Given the description of an element on the screen output the (x, y) to click on. 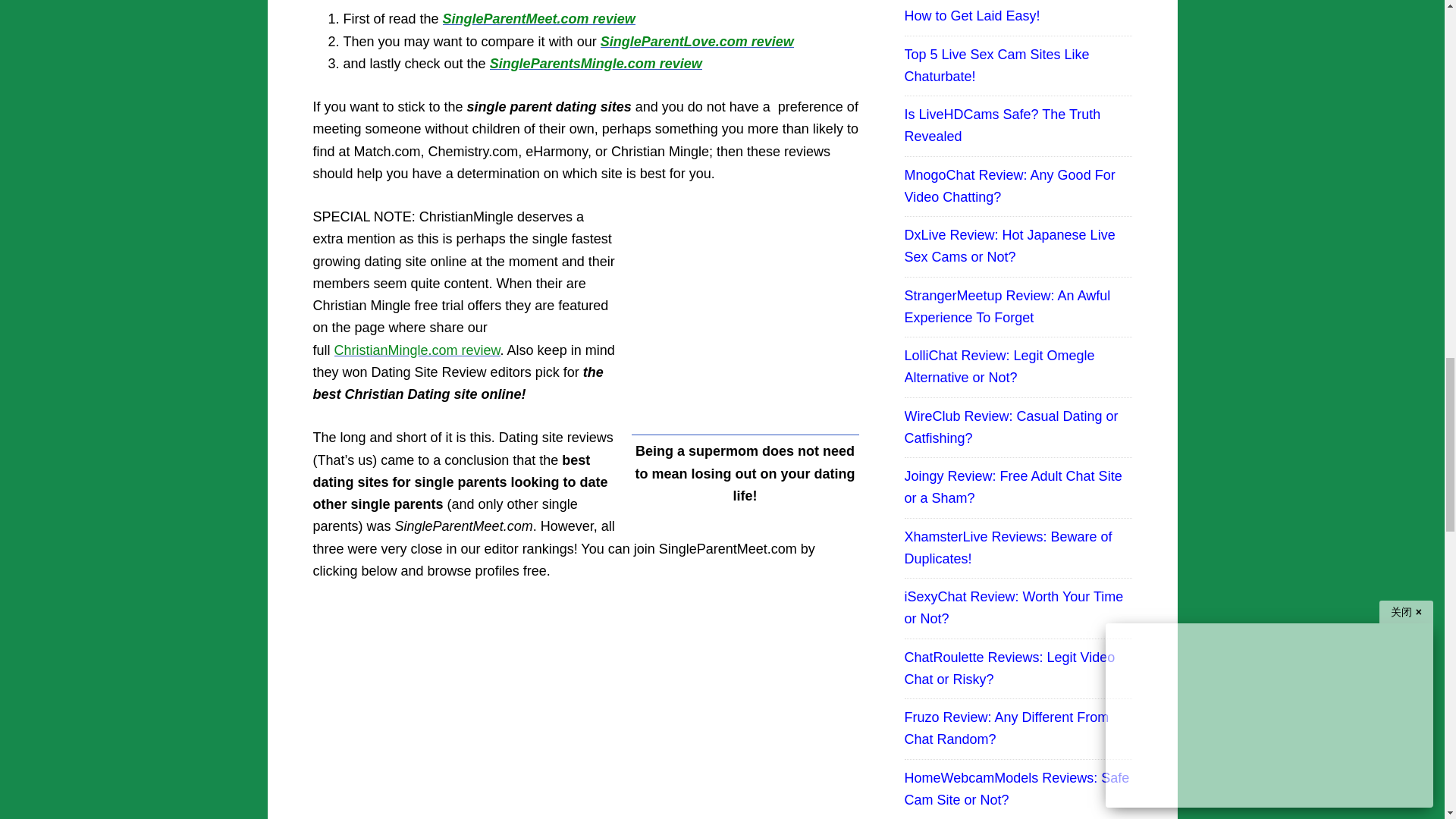
SingleParentsMingle.com review (595, 63)
SingleParentMeet.com review (538, 18)
ChristianMingle.com review (417, 350)
SingleParentsMingle.com review (595, 63)
SingleParentLove.com review (696, 41)
ChristianMingle reviews (417, 350)
SingleParentMeet.com review (538, 18)
SingleParentLove.com review (696, 41)
